Given the description of an element on the screen output the (x, y) to click on. 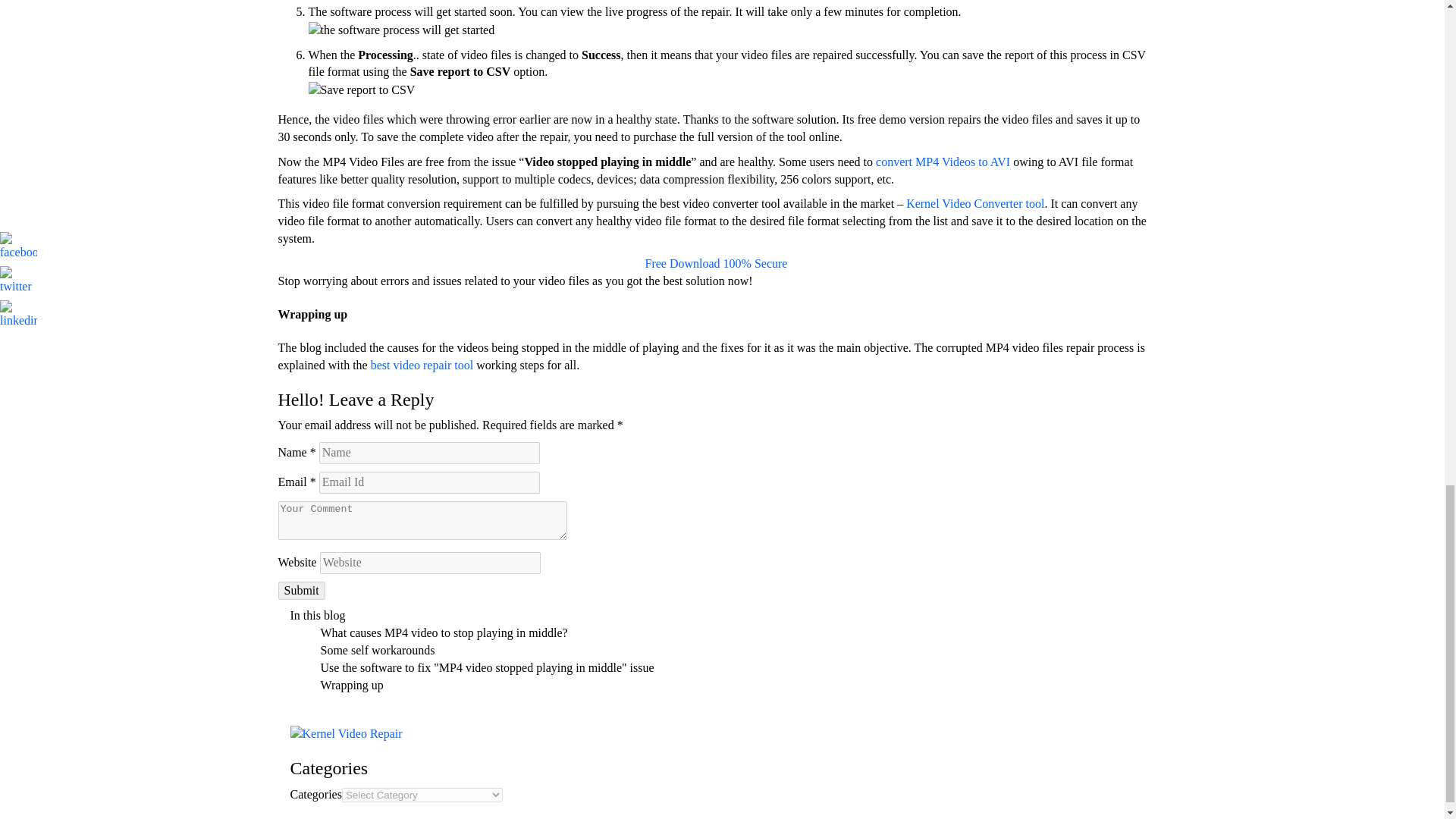
Submit (301, 590)
